Given the description of an element on the screen output the (x, y) to click on. 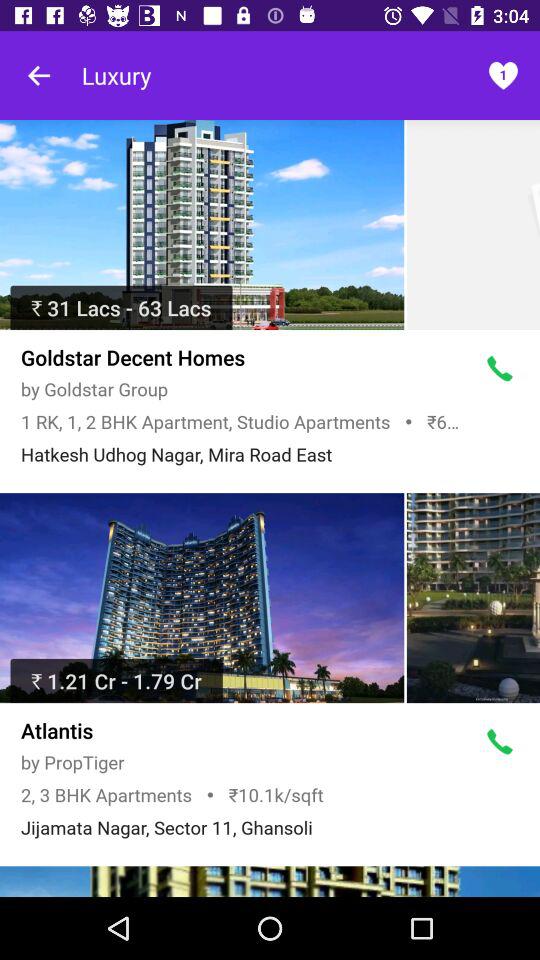
scroll until the luxury app (116, 75)
